Given the description of an element on the screen output the (x, y) to click on. 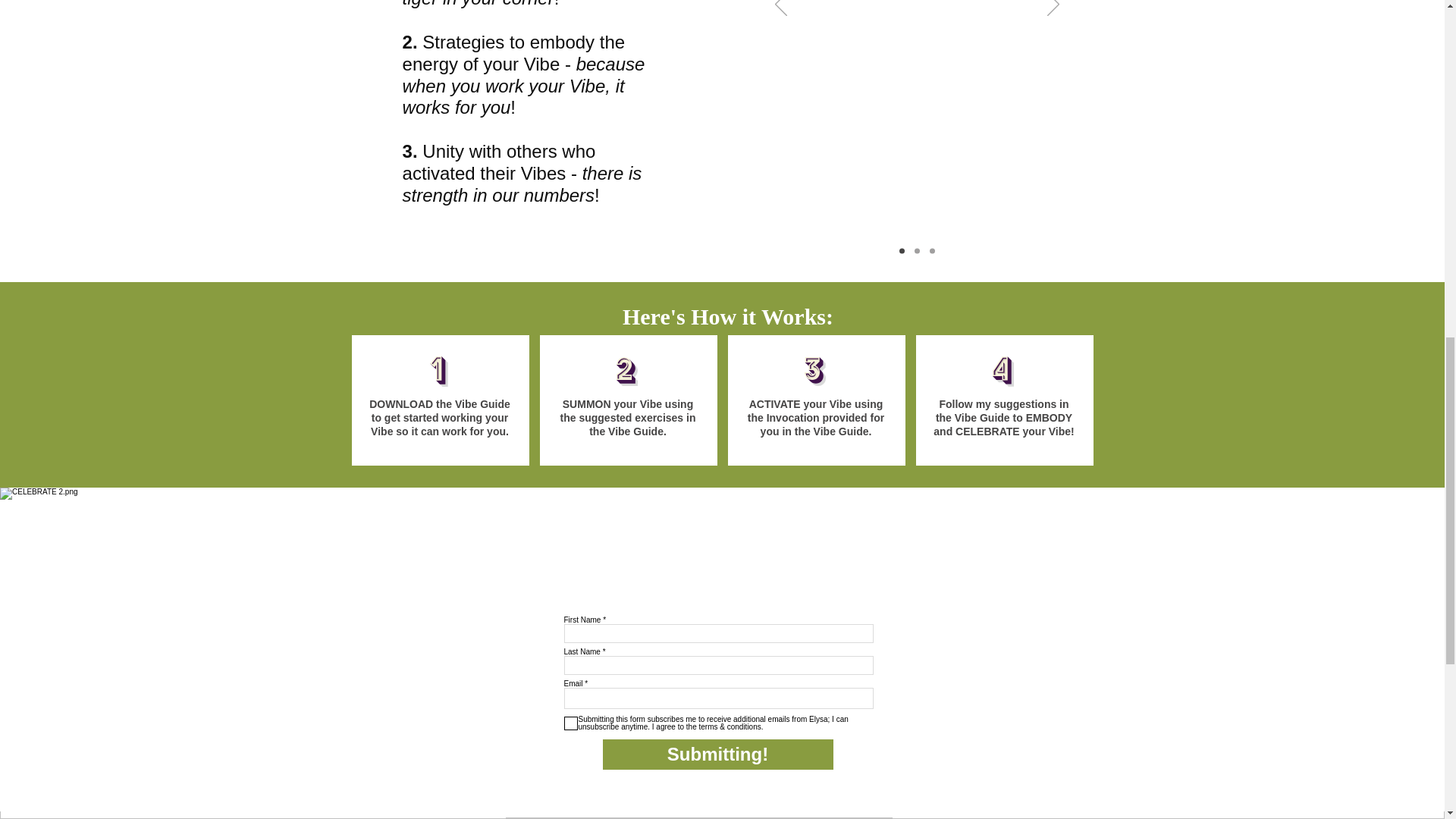
Submitting! (717, 754)
